Given the description of an element on the screen output the (x, y) to click on. 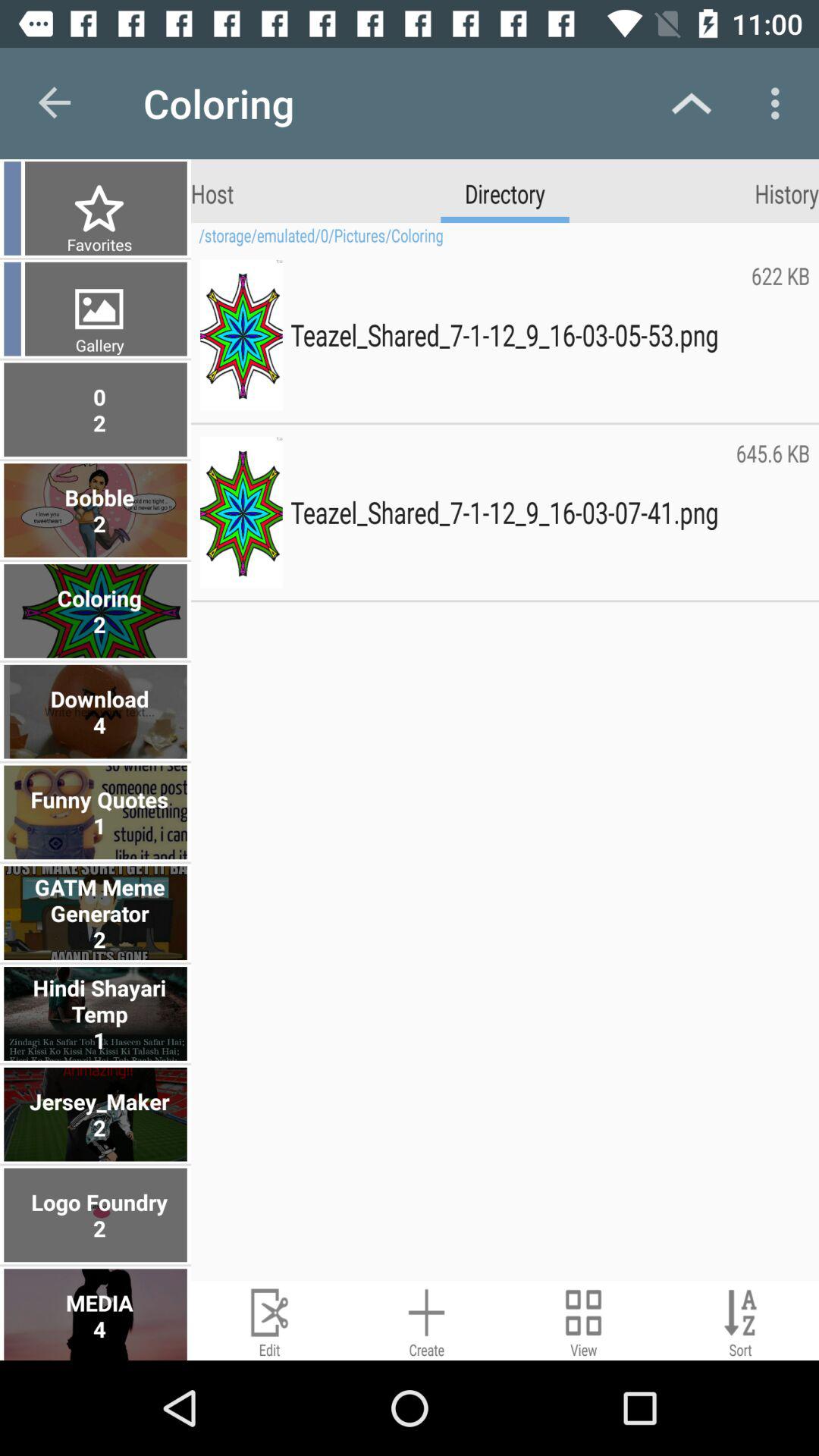
see (583, 1320)
